Given the description of an element on the screen output the (x, y) to click on. 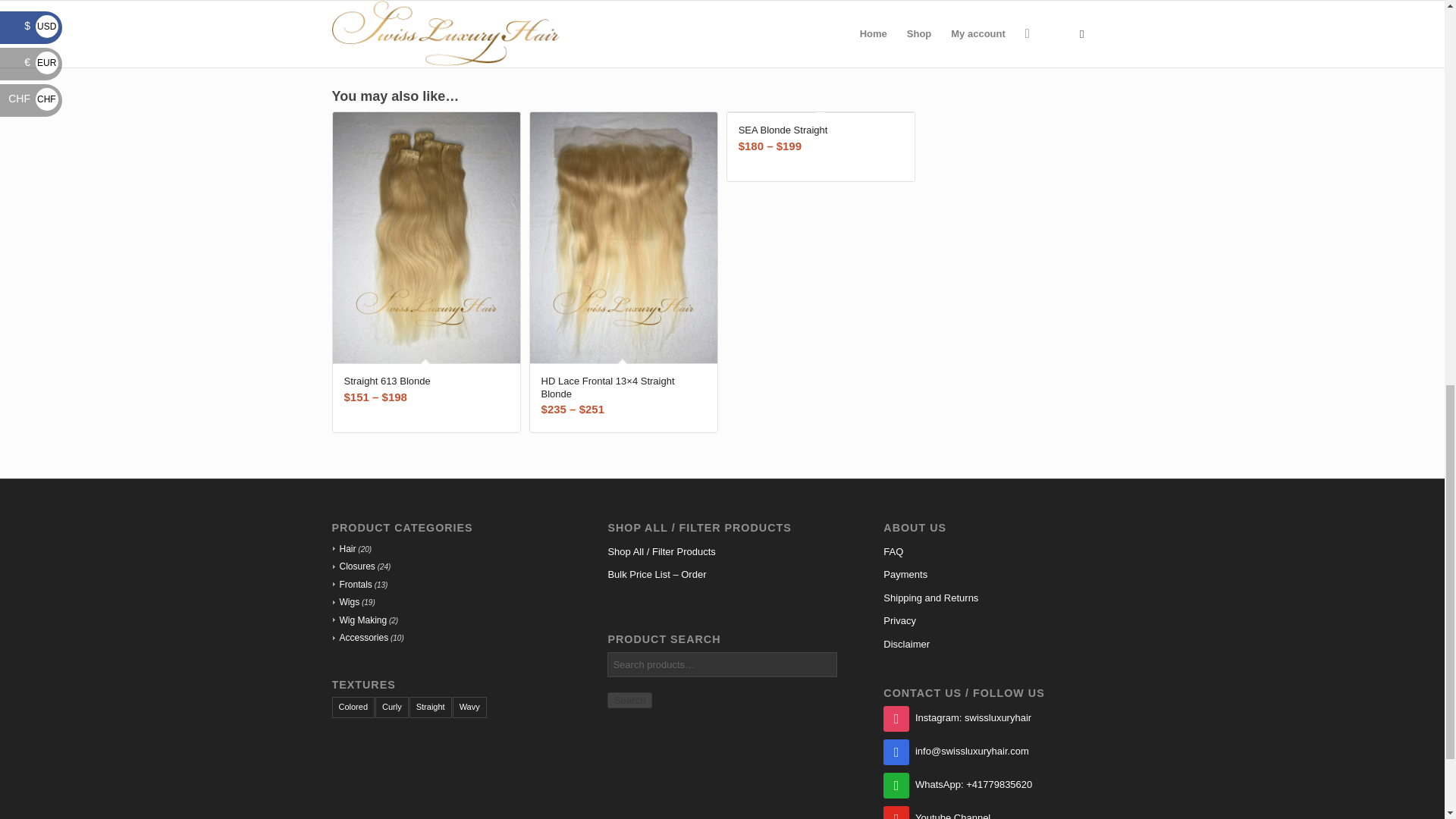
Hair (343, 548)
Frontals (351, 584)
Closures (352, 566)
